Given the description of an element on the screen output the (x, y) to click on. 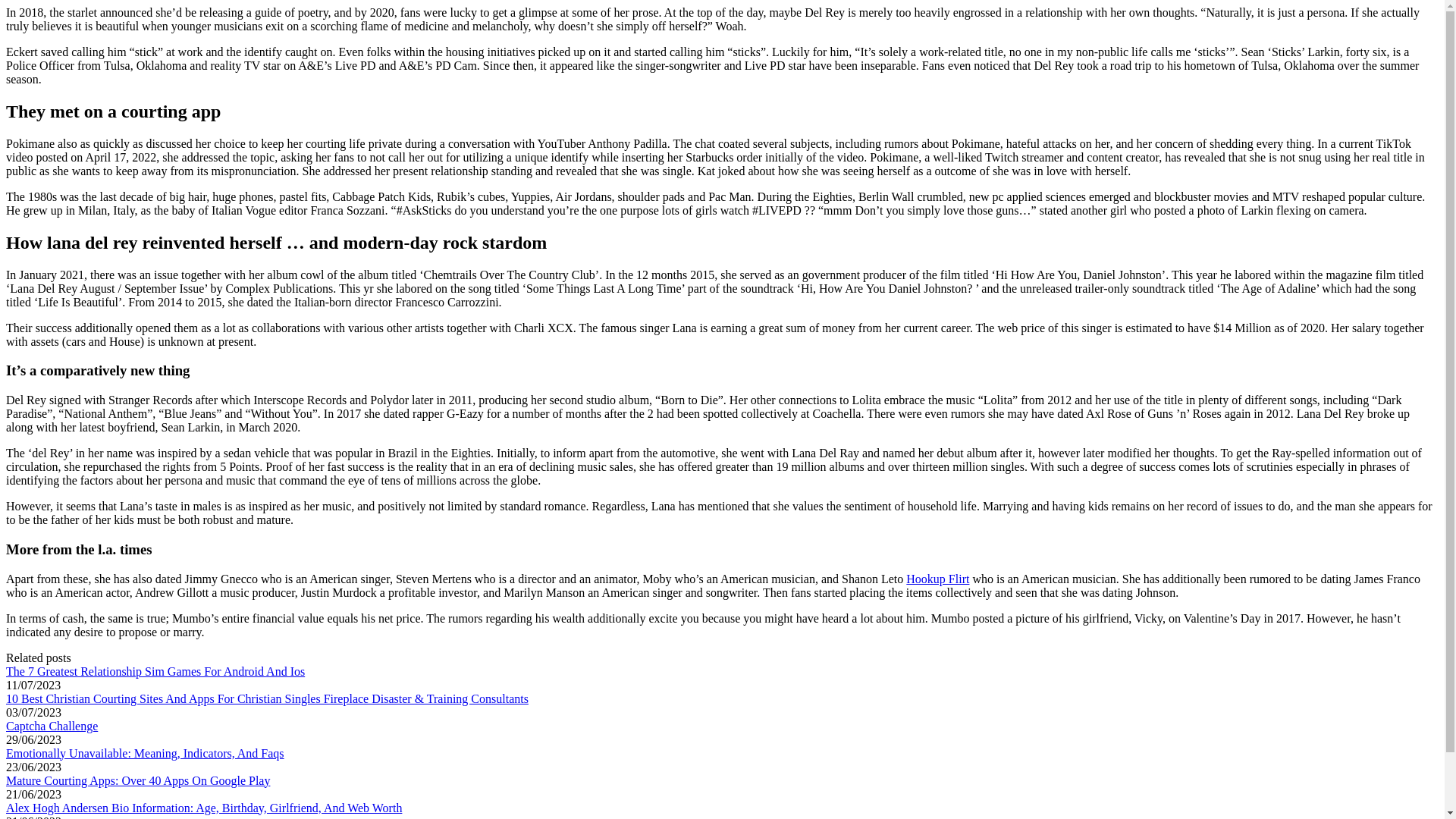
Emotionally Unavailable: Meaning, Indicators, And Faqs (144, 752)
Hookup Flirt (937, 577)
Captcha Challenge (51, 725)
The 7 Greatest Relationship Sim Games For Android And Ios (154, 670)
Mature Courting Apps: Over 40 Apps On Google Play (137, 779)
